Given the description of an element on the screen output the (x, y) to click on. 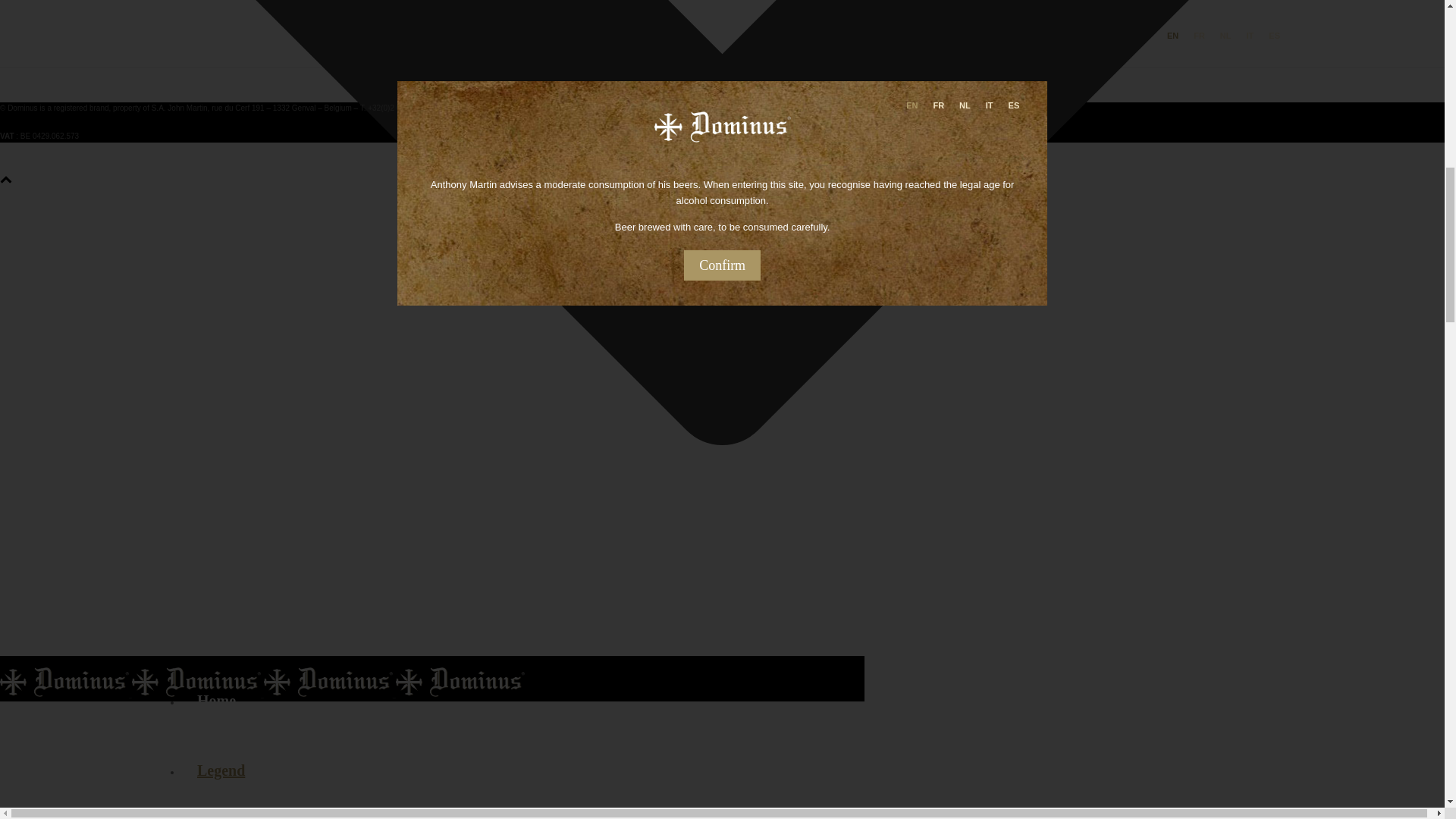
Home (216, 700)
Dominus-Beer (262, 691)
Home (216, 700)
Legend (221, 770)
Legend (221, 770)
